Given the description of an element on the screen output the (x, y) to click on. 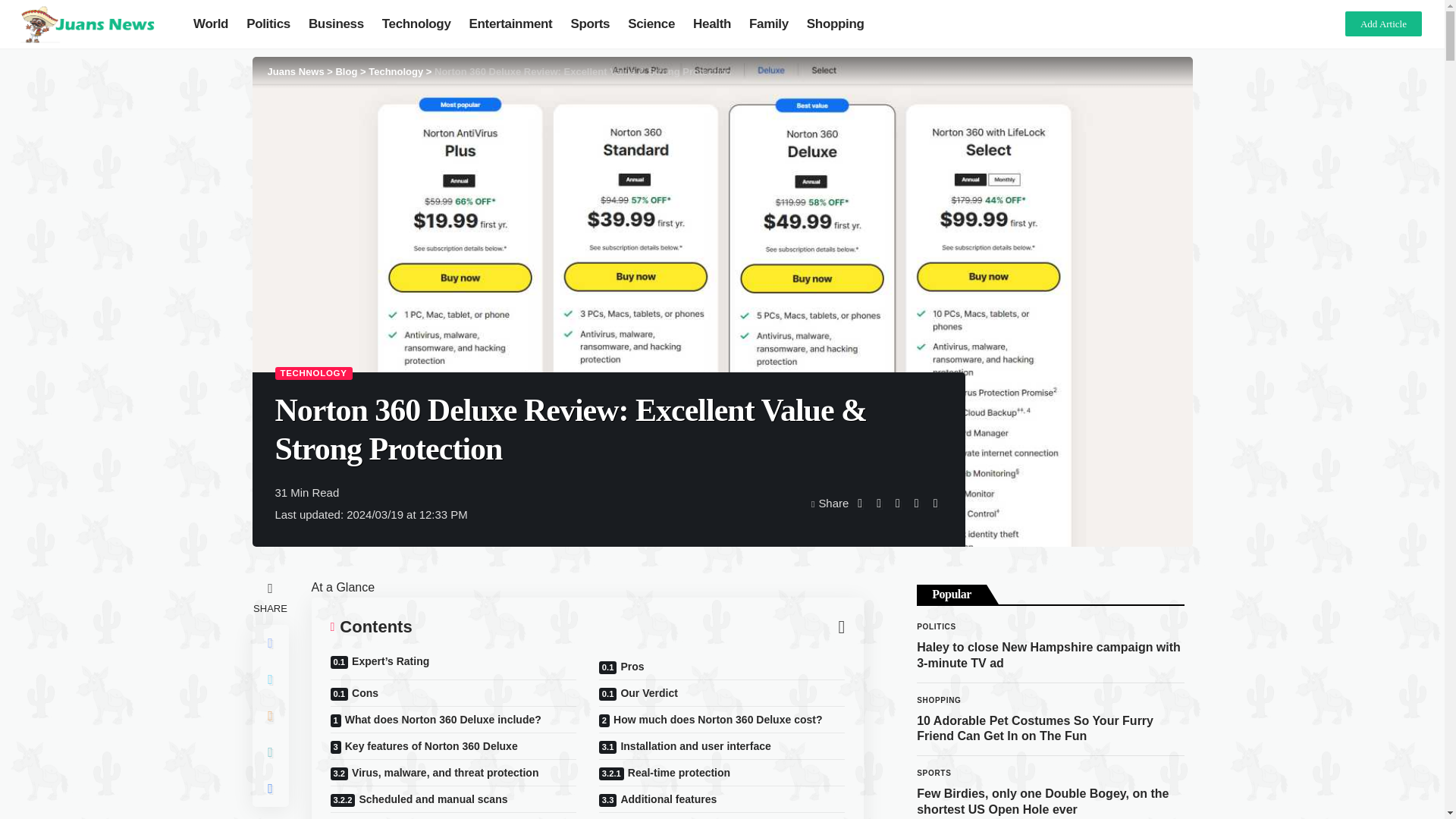
World (210, 23)
Go to the Technology Category archives. (395, 71)
Business (335, 23)
Entertainment (511, 23)
Go to Juans News. (294, 71)
Shopping (835, 23)
Blog (345, 71)
Technology (395, 71)
Family (768, 23)
Sports (589, 23)
Science (651, 23)
Technology (416, 23)
Politics (268, 23)
Add Article (1383, 23)
Juans News (294, 71)
